Given the description of an element on the screen output the (x, y) to click on. 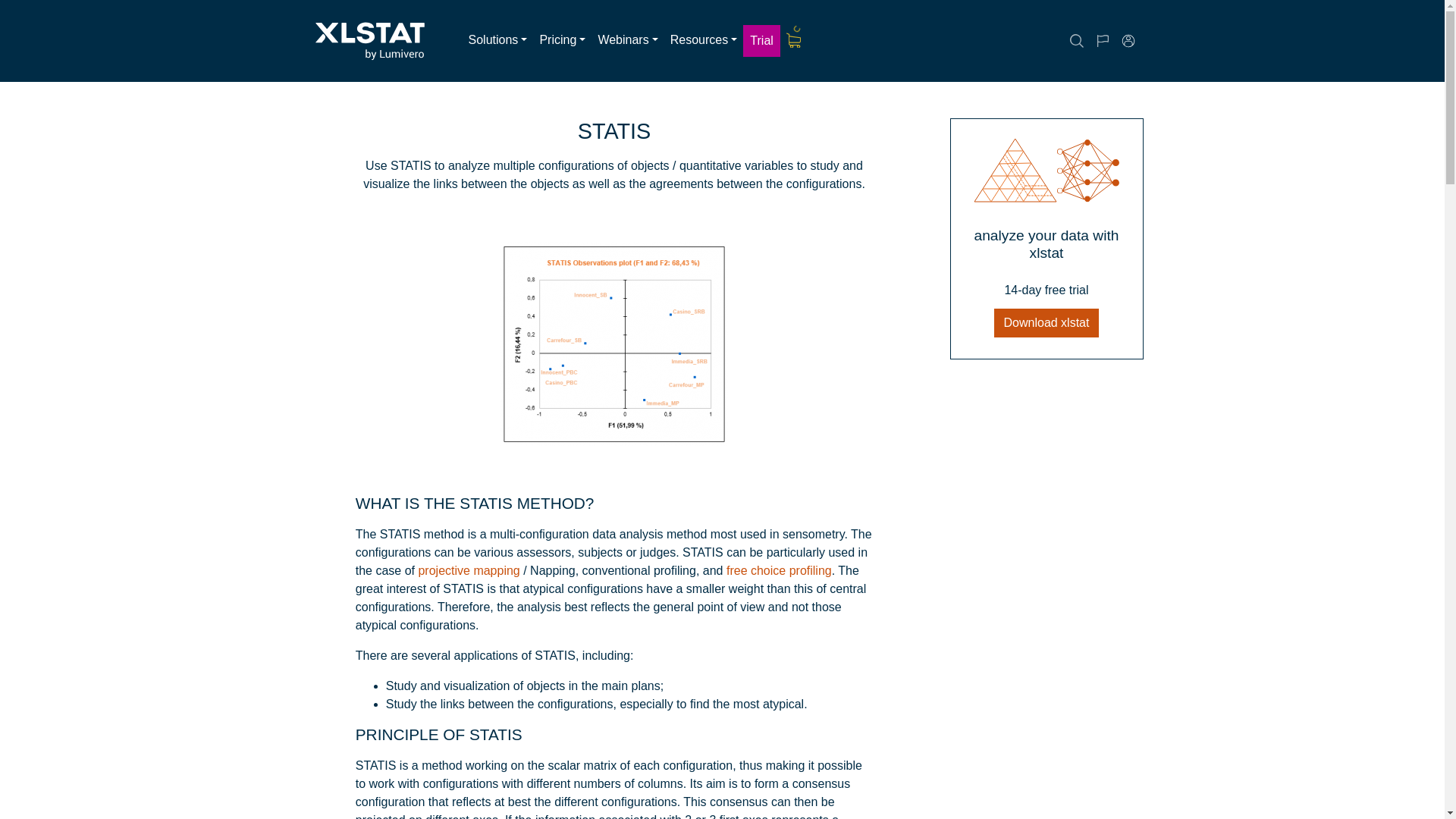
STATIS.PNG (614, 343)
Cart (794, 40)
Solutions (498, 40)
Search (1090, 40)
Trial (761, 40)
Resources (703, 40)
Pricing (561, 40)
English (1116, 40)
Webinars (627, 40)
